Given the description of an element on the screen output the (x, y) to click on. 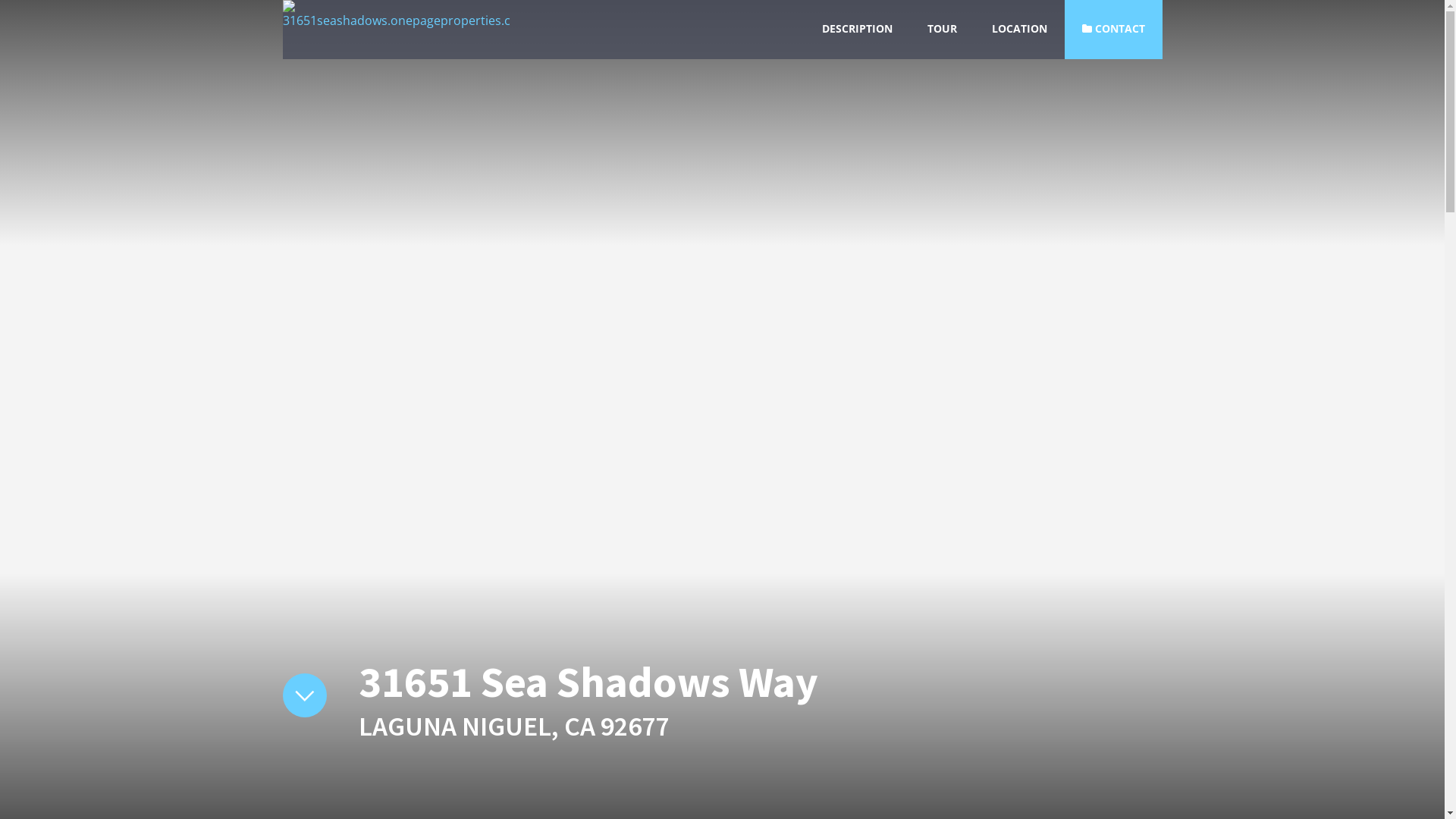
LOCATION Element type: text (1019, 29)
CONTACT Element type: text (1112, 29)
TOUR Element type: text (941, 29)
DESCRIPTION Element type: text (857, 29)
